Given the description of an element on the screen output the (x, y) to click on. 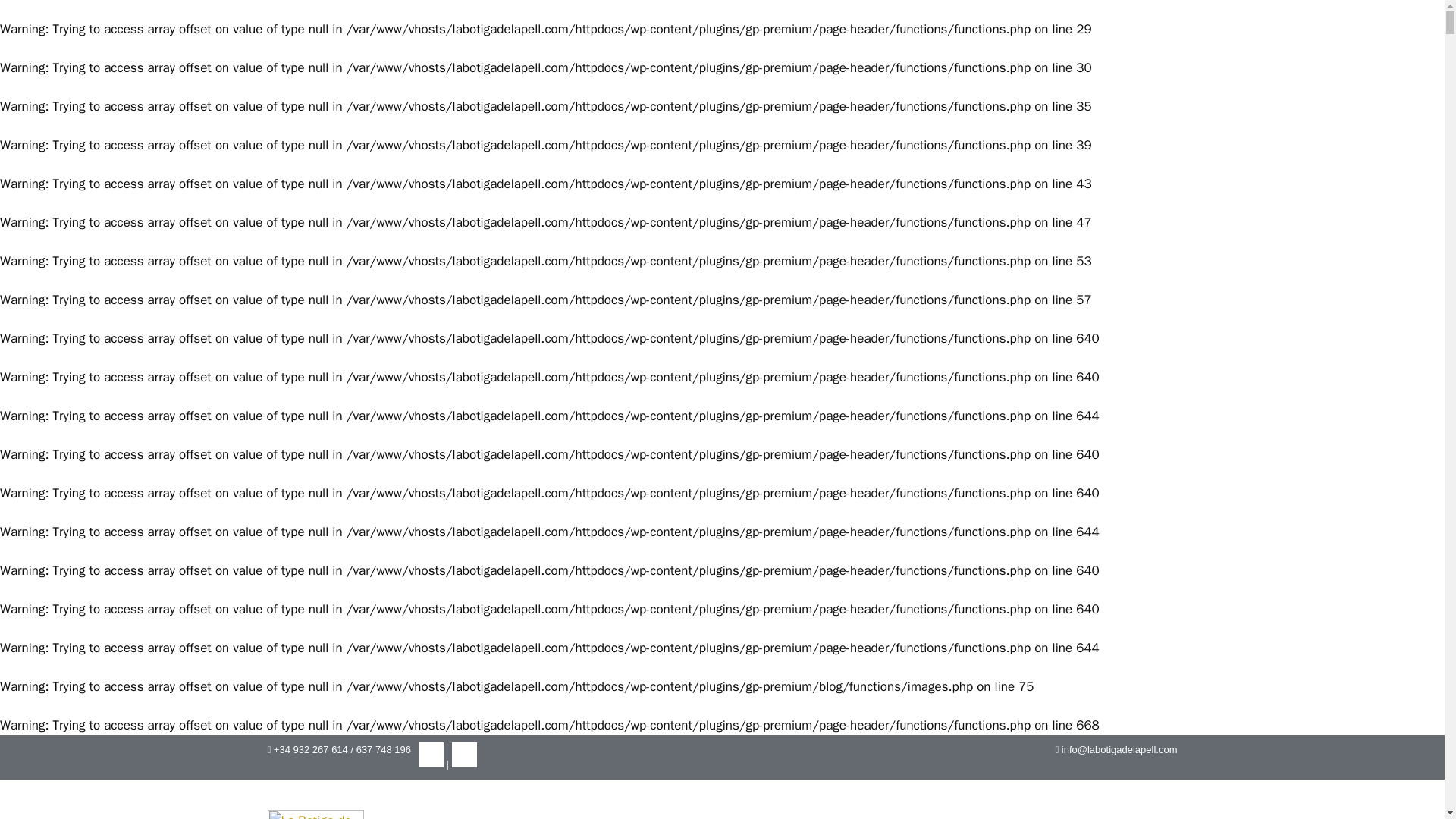
Buscar (32, 17)
Inicio (852, 814)
Servicios (927, 814)
Quienes somos (1028, 814)
La Botiga de la pell (314, 814)
